Given the description of an element on the screen output the (x, y) to click on. 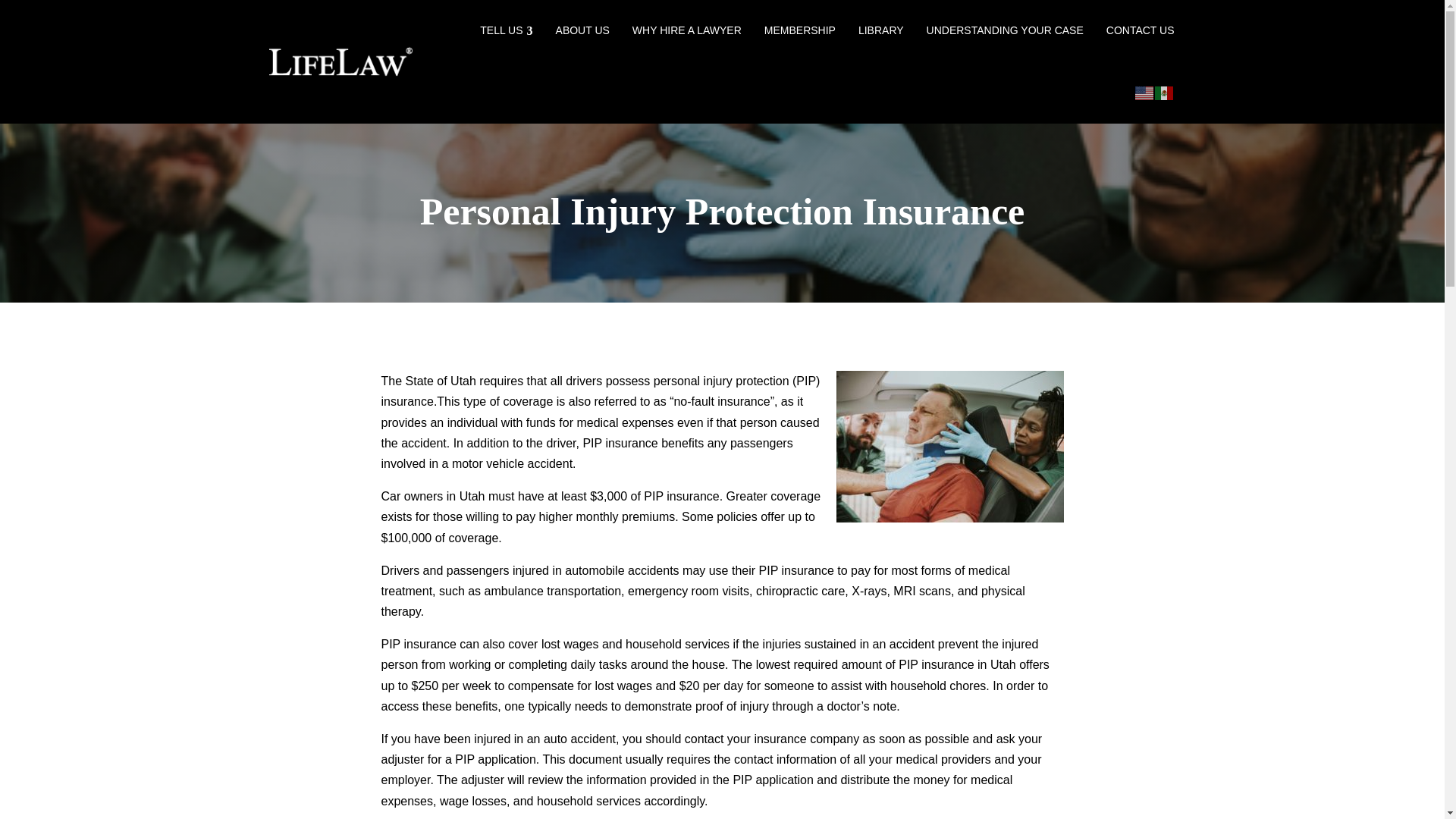
Contact Salt Lake City Personal Injury Law Firm (1140, 31)
WHY HIRE A LAWYER (686, 31)
Personal Injury Law Firm Membership (799, 31)
UNDERSTANDING YOUR CASE (1004, 31)
CONTACT US (1140, 31)
Why Hire a Personal Injury Lawyer (686, 31)
MEMBERSHIP (799, 31)
